Given the description of an element on the screen output the (x, y) to click on. 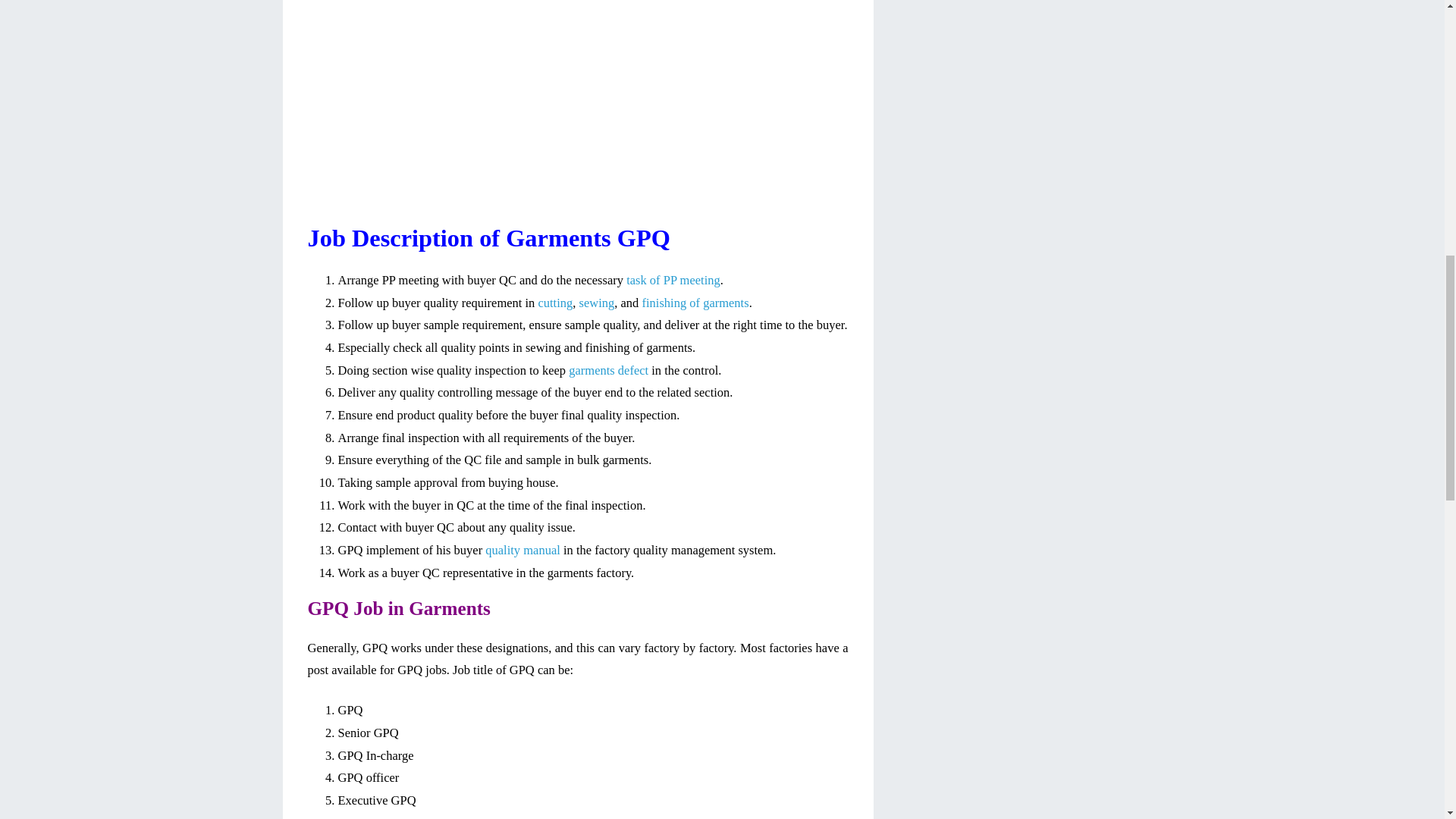
garments defect (608, 370)
sewing (596, 302)
quality manual (522, 549)
PP meeting (410, 279)
finishing of garments (695, 302)
sample quality (600, 324)
cutting (554, 302)
task of PP meeting (673, 279)
